Given the description of an element on the screen output the (x, y) to click on. 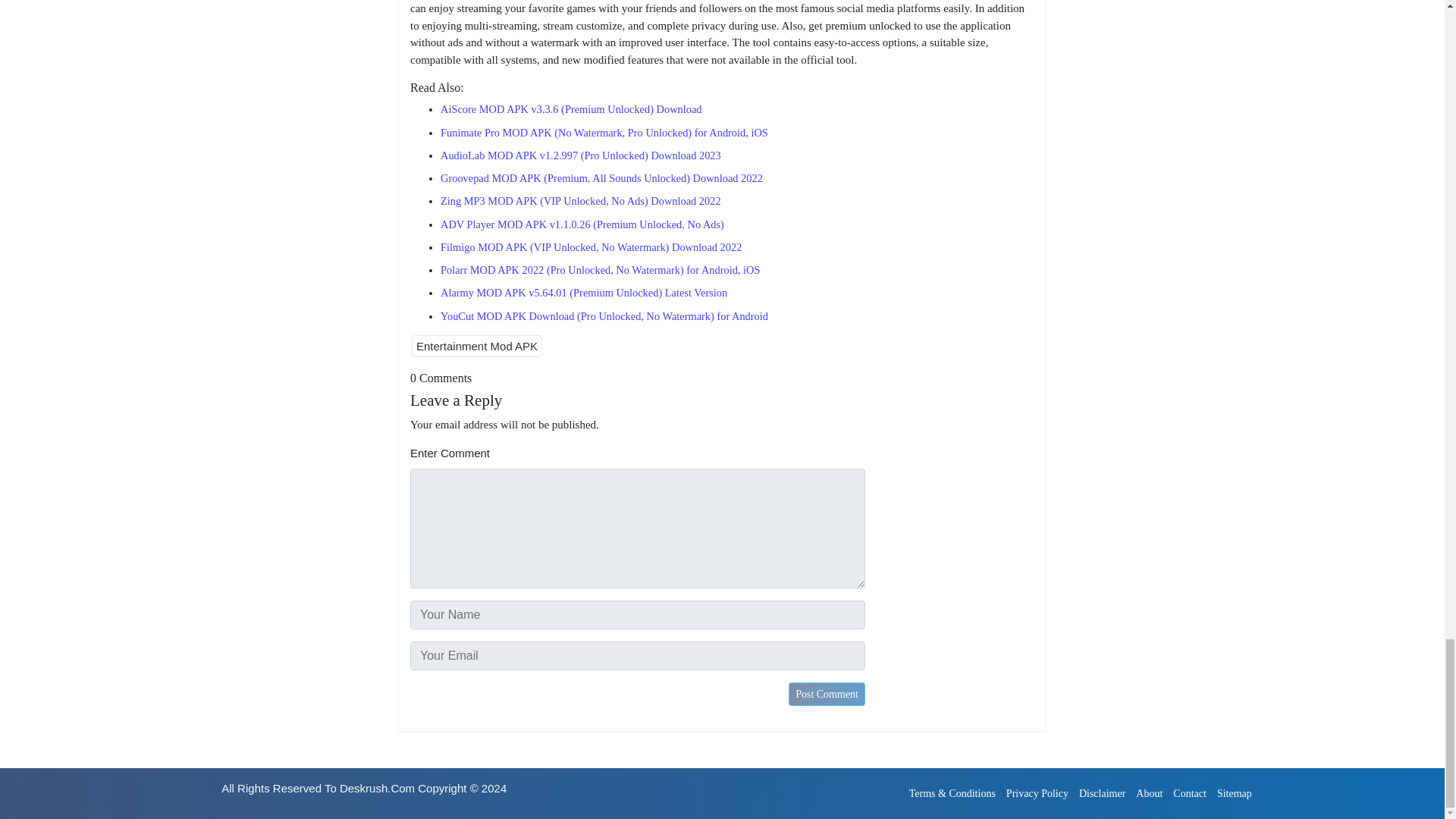
Post Comment (826, 693)
